Given the description of an element on the screen output the (x, y) to click on. 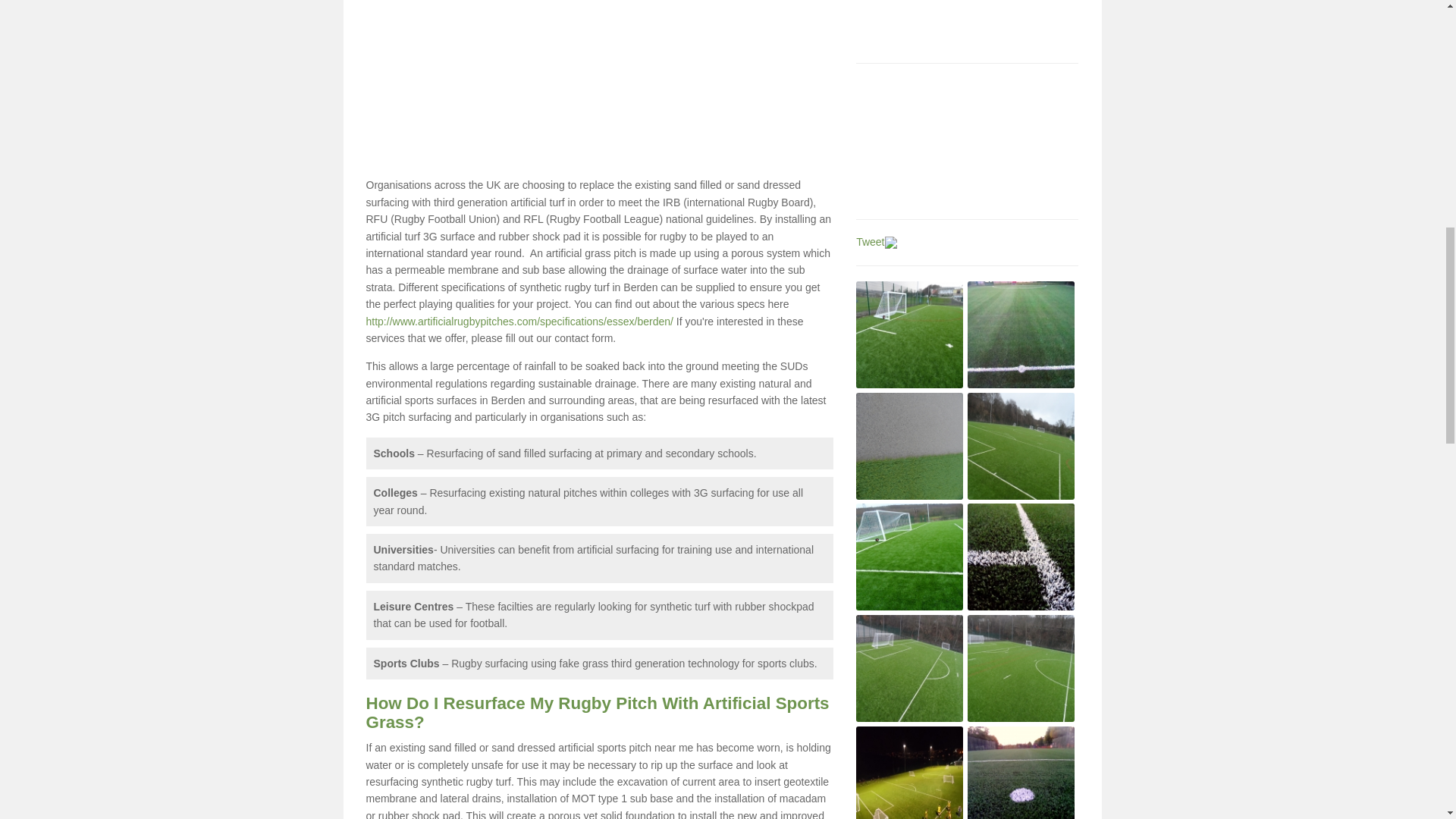
Artificial Rugby Pitch Resurface in Berden 3 (909, 446)
Artificial Rugby Pitch Resurface in Berden 4 (1021, 446)
Artificial Rugby Pitch Resurface in Berden 7 (909, 668)
Artificial Rugby Pitch Resurface in Berden 5 (909, 556)
Artificial Rugby Pitch Resurface in Berden 6 (1021, 556)
Artificial Rugby Pitch Resurface in Berden 9 (909, 772)
Artificial Rugby Pitch Resurface in Berden 8 (1021, 668)
Artificial Rugby Pitch Resurface in Berden 1 (909, 334)
Artificial Rugby Pitch Resurface in Berden 2 (1021, 334)
Artificial Rugby Pitch Resurface in Berden 10 (1021, 772)
